Given the description of an element on the screen output the (x, y) to click on. 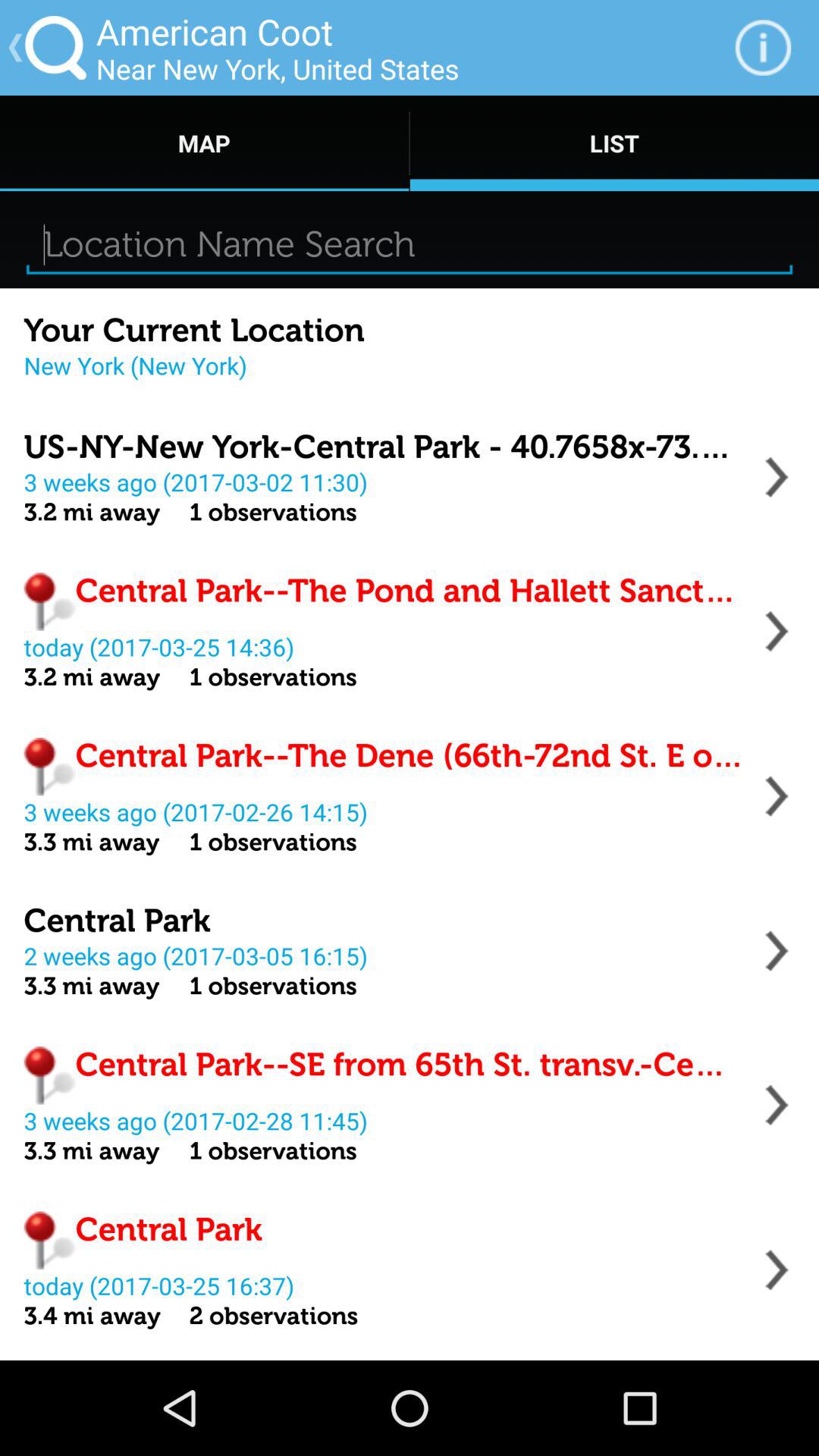
select options from menu (776, 1269)
